Given the description of an element on the screen output the (x, y) to click on. 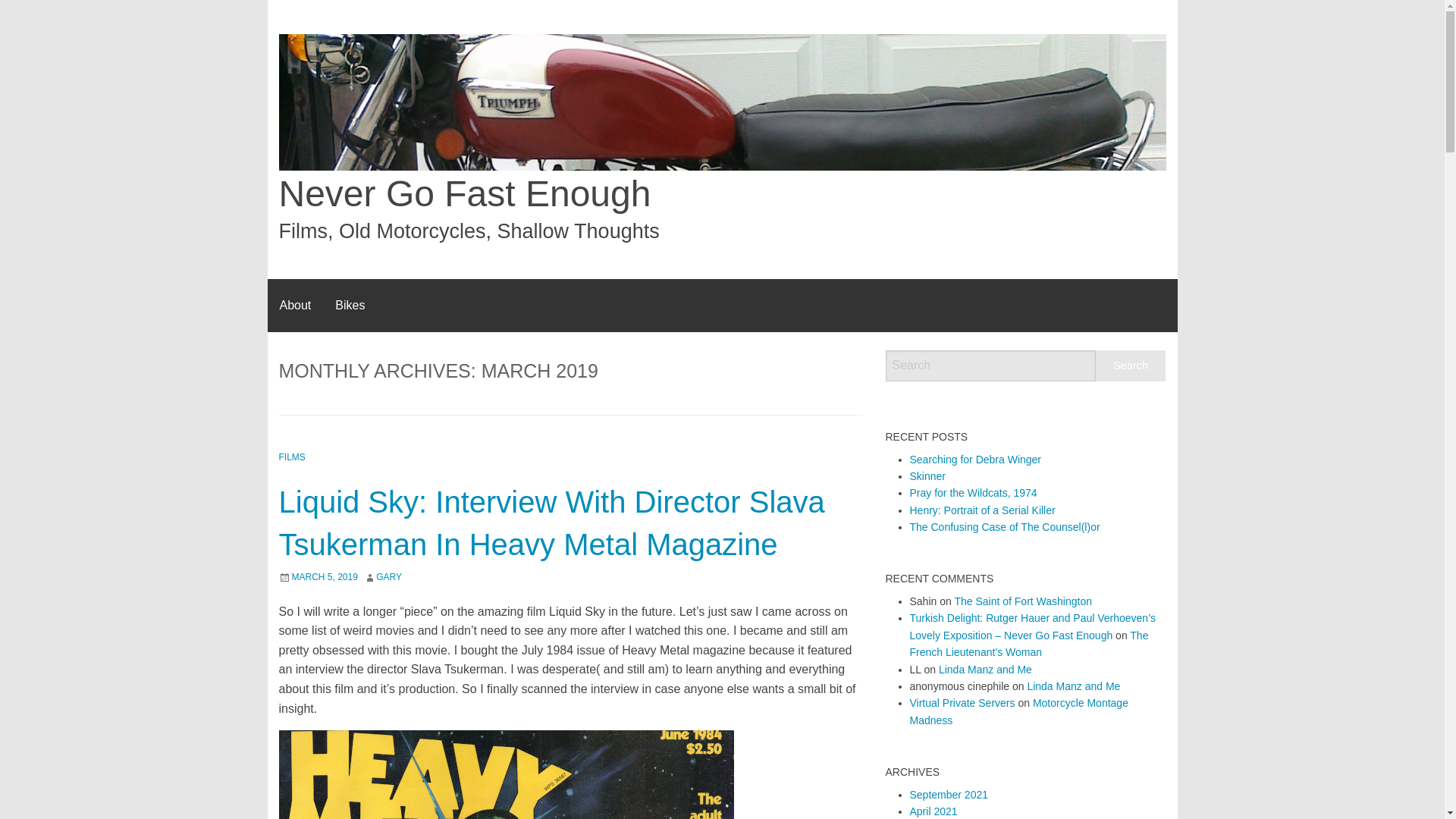
Searching for Debra Winger (976, 459)
FILMS (292, 457)
Henry: Portrait of a Serial Killer (982, 510)
Search (1131, 365)
About (294, 305)
Never Go Fast Enough (464, 193)
Pray for the Wildcats, 1974 (973, 492)
GARY (388, 576)
Skinner (927, 476)
MARCH 5, 2019 (323, 576)
April 2021 (934, 811)
Linda Manz and Me (1072, 686)
September 2021 (949, 794)
Bikes (350, 305)
Motorcycle Montage Madness (1019, 710)
